Given the description of an element on the screen output the (x, y) to click on. 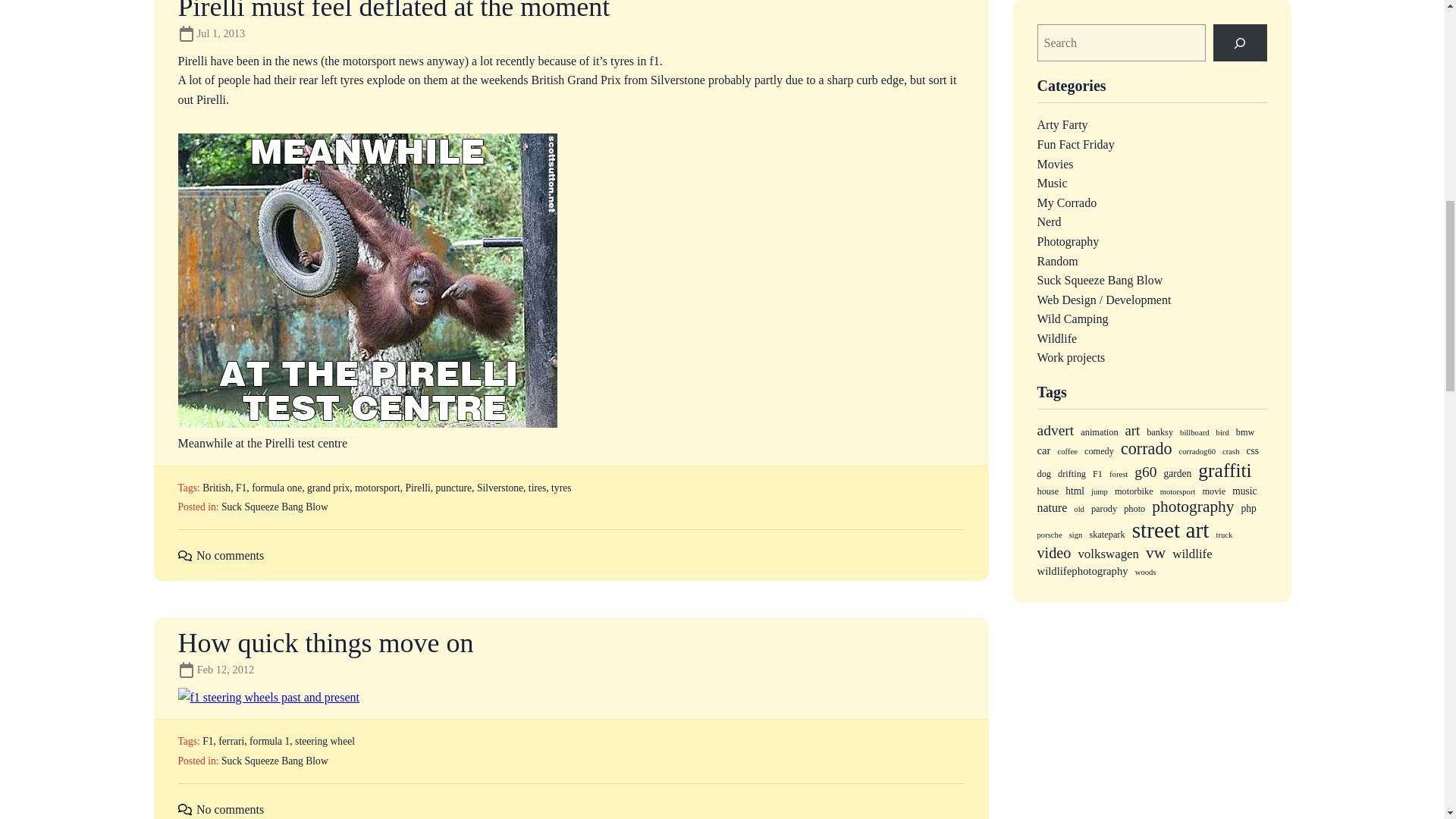
formula one (276, 487)
F1 (207, 740)
comments (183, 808)
Pirelli (416, 487)
British (216, 487)
puncture (453, 487)
F1 (240, 487)
Silverstone (499, 487)
How quick things move on (325, 642)
tires (229, 554)
Suck Squeeze Bang Blow (537, 487)
grand prix (275, 506)
Pirelli must feel deflated at the moment (328, 487)
motorsport (393, 10)
